Given the description of an element on the screen output the (x, y) to click on. 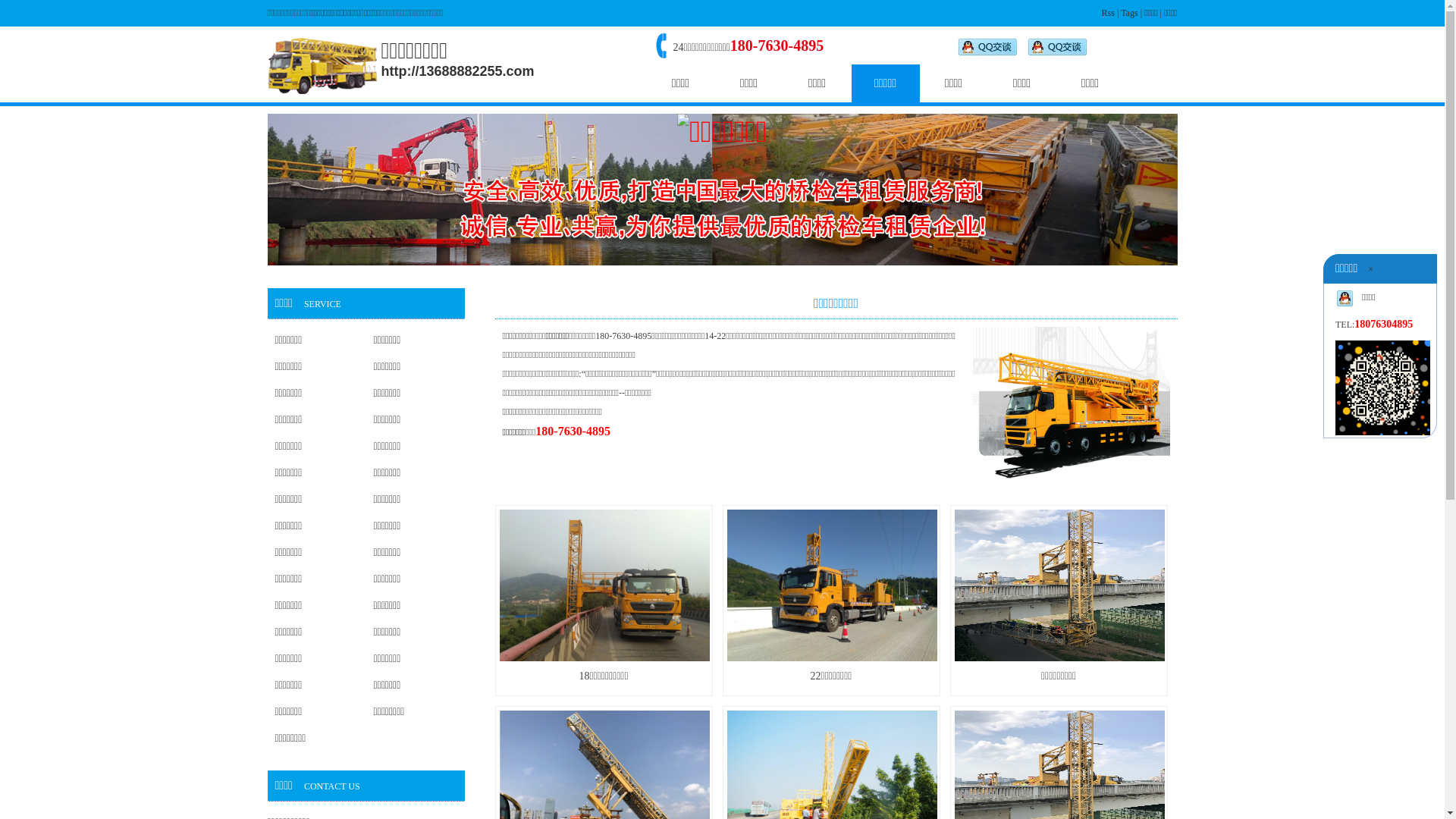
Tags Element type: text (1129, 12)
Rss Element type: text (1107, 12)
